Given the description of an element on the screen output the (x, y) to click on. 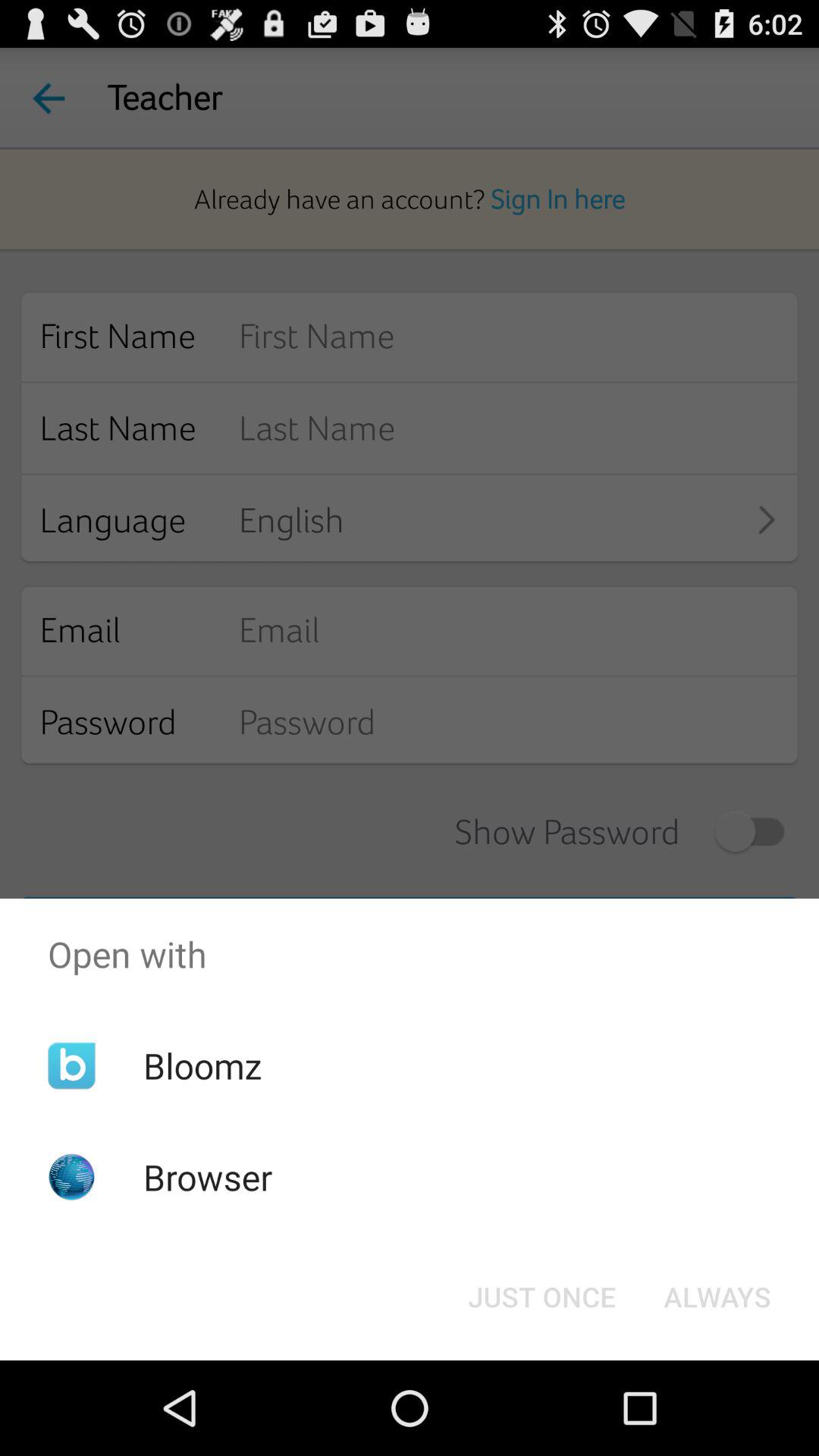
swipe until bloomz item (202, 1065)
